Given the description of an element on the screen output the (x, y) to click on. 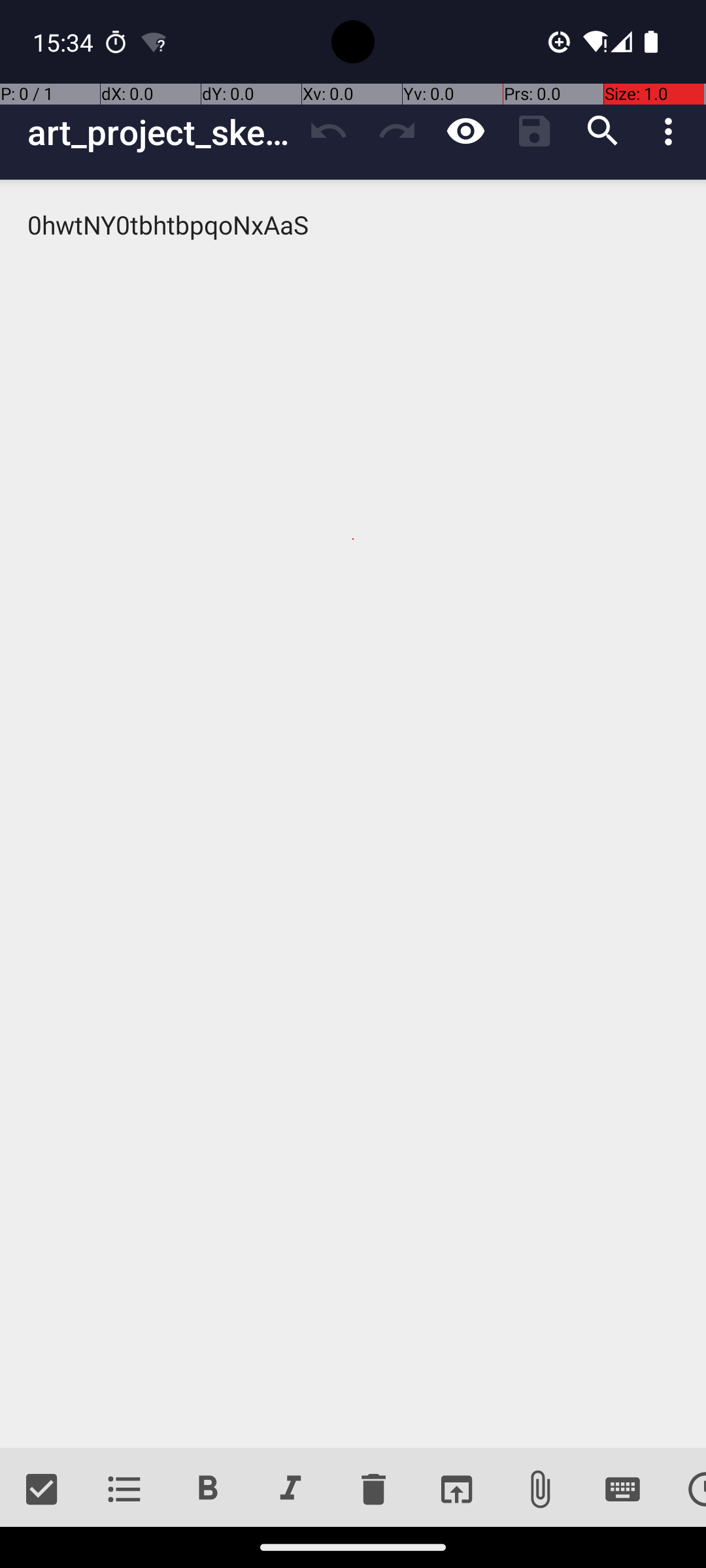
art_project_sketches_2023_04_10 Element type: android.widget.TextView (160, 131)
0hwtNY0tbhtbpqoNxAaS
 Element type: android.widget.EditText (353, 813)
